Given the description of an element on the screen output the (x, y) to click on. 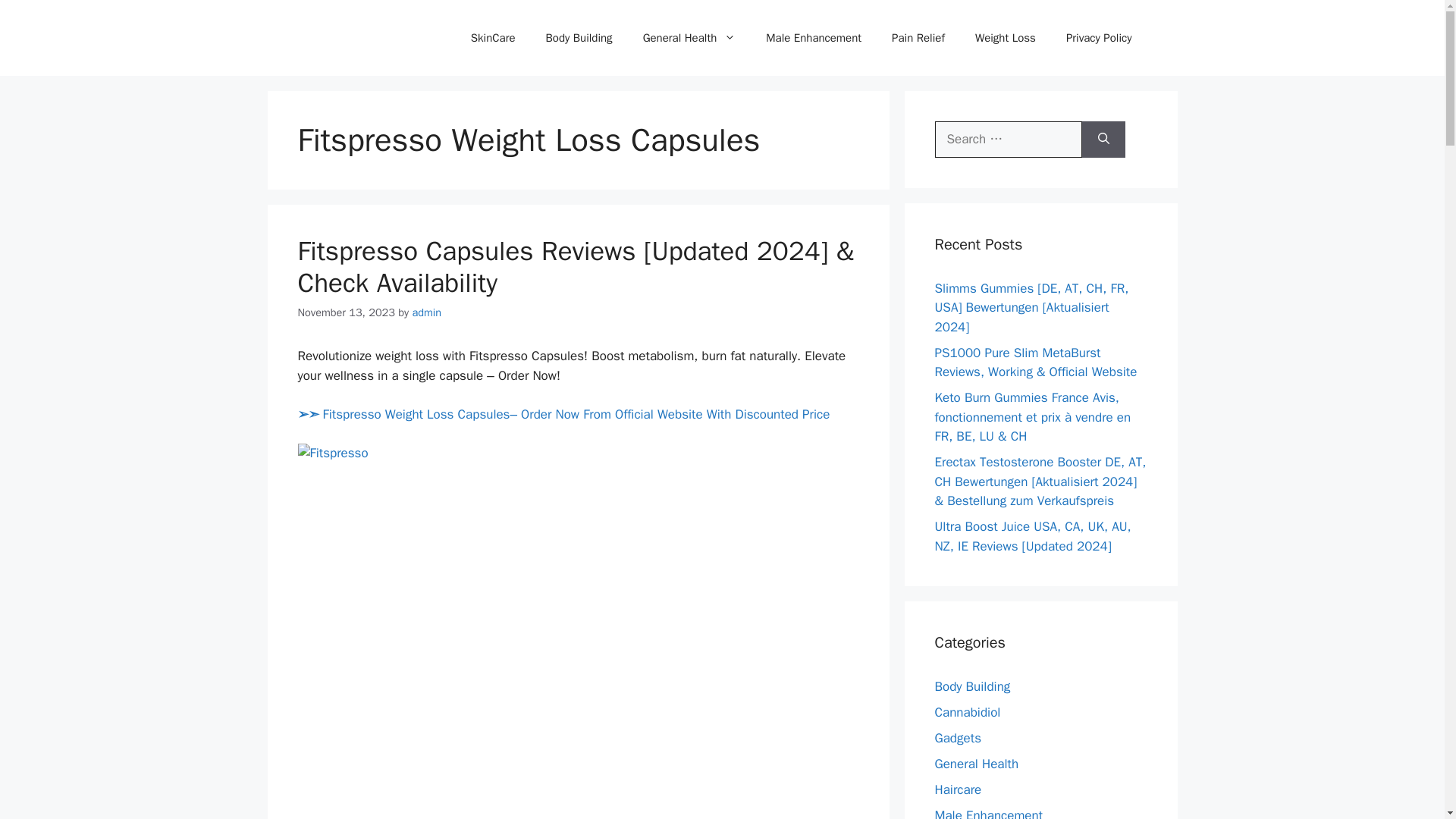
General Health (689, 37)
Male Enhancement (813, 37)
View all posts by admin (426, 312)
Pain Relief (917, 37)
Search for: (1007, 139)
Body Building (579, 37)
Privacy Policy (1099, 37)
SkinCare (493, 37)
admin (426, 312)
Weight Loss (1005, 37)
